Given the description of an element on the screen output the (x, y) to click on. 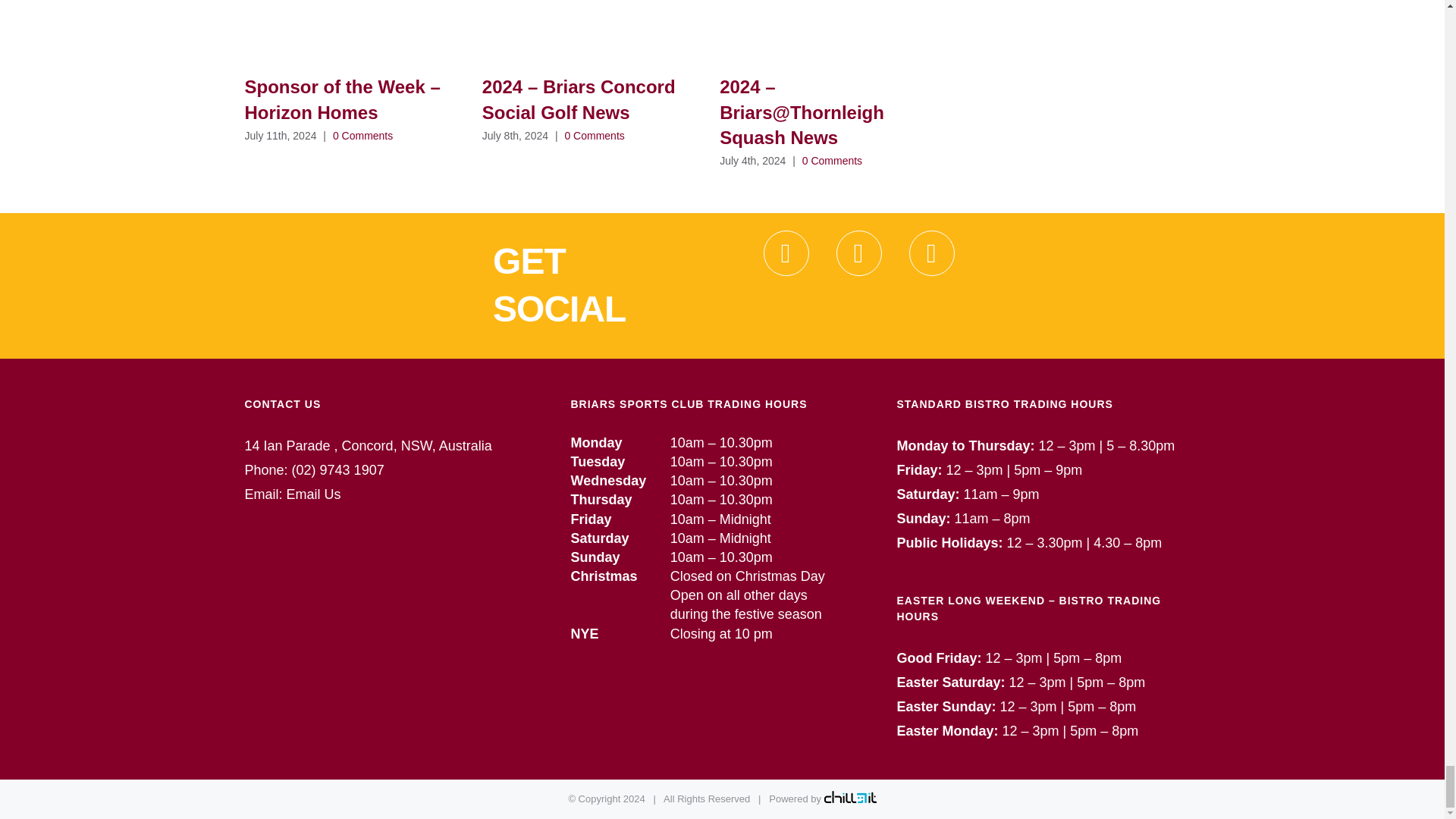
Chill IT (850, 798)
